Given the description of an element on the screen output the (x, y) to click on. 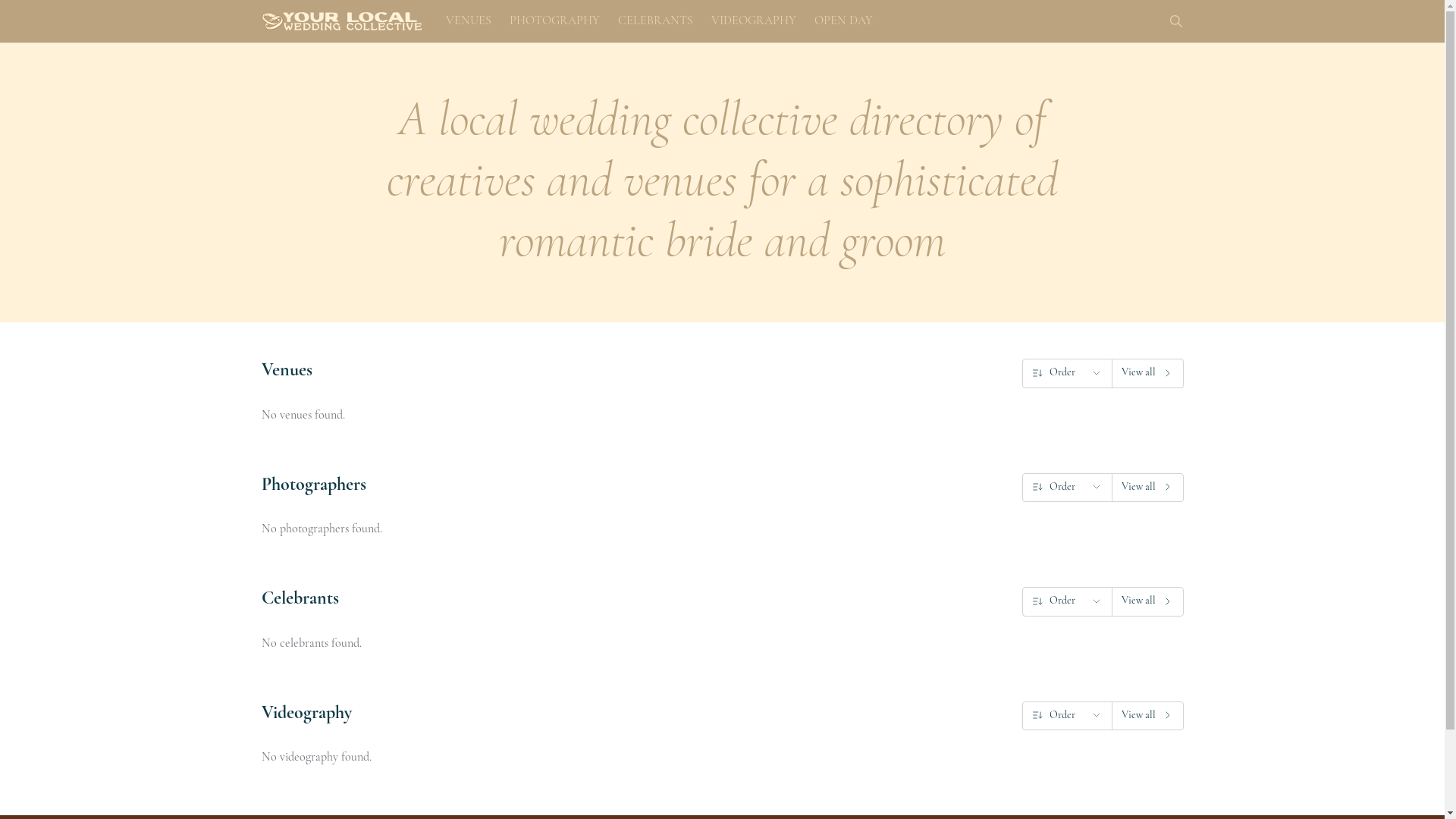
VENUES Element type: text (468, 21)
View all Element type: text (1147, 372)
Order Element type: text (1065, 601)
Order Element type: text (1065, 715)
View all Element type: text (1147, 715)
CELEBRANTS Element type: text (654, 21)
Order Element type: text (1065, 486)
Search Element type: text (1175, 20)
PHOTOGRAPHY Element type: text (554, 21)
Order Element type: text (1065, 372)
View all Element type: text (1147, 486)
VIDEOGRAPHY Element type: text (753, 21)
OPEN DAY Element type: text (843, 21)
View all Element type: text (1147, 601)
